Given the description of an element on the screen output the (x, y) to click on. 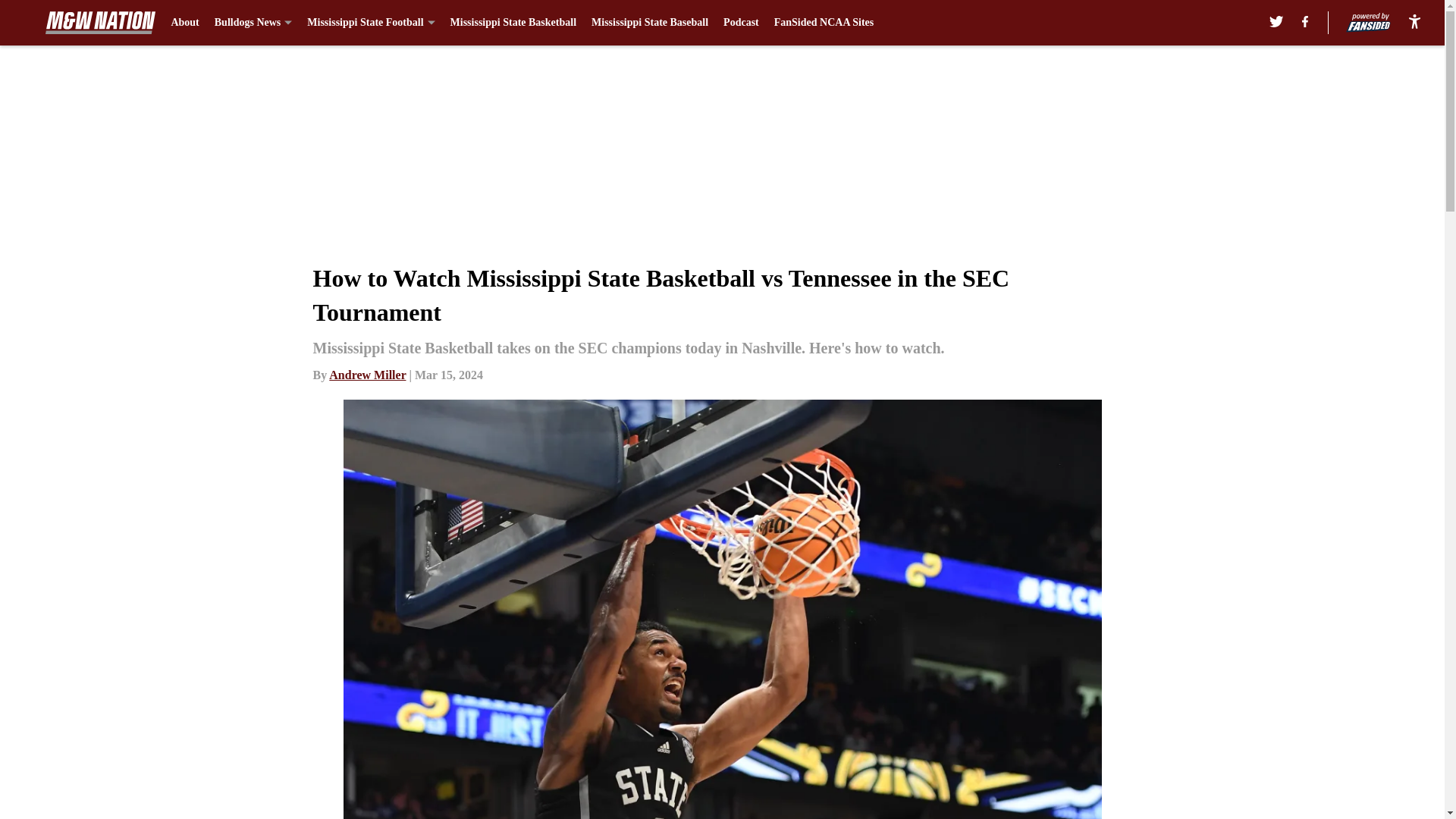
Andrew Miller (367, 374)
Mississippi State Baseball (649, 22)
FanSided NCAA Sites (823, 22)
About (184, 22)
Mississippi State Basketball (512, 22)
Podcast (740, 22)
